Given the description of an element on the screen output the (x, y) to click on. 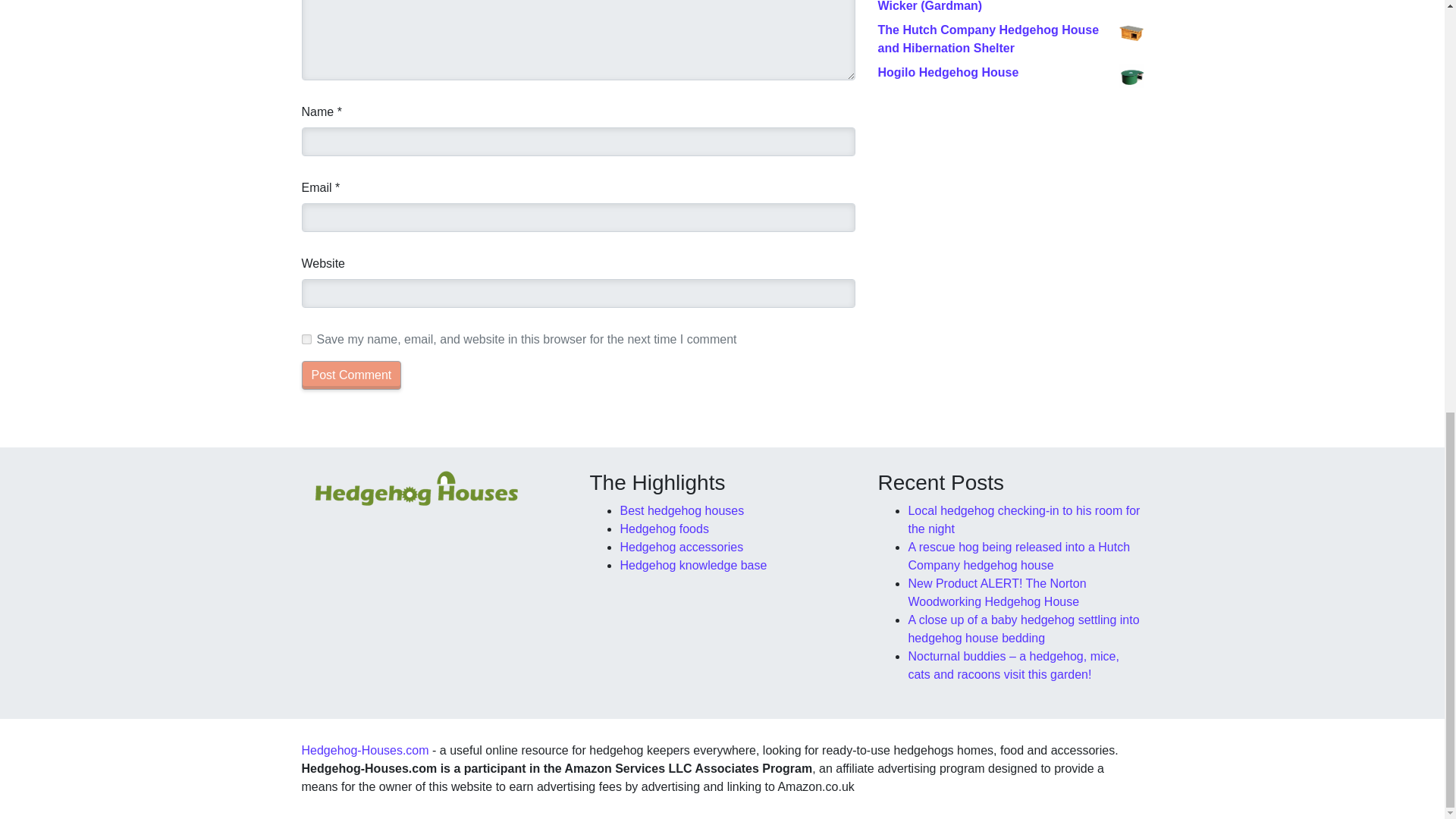
The Hutch Company Hedgehog House and Hibernation Shelter (1009, 39)
Hedgehog knowledge base (693, 564)
Best hedgehog houses (682, 510)
Post Comment (351, 375)
Hedgehog foods (663, 528)
Post Comment (351, 375)
yes (306, 338)
Hedgehog accessories (681, 546)
Hogilo Hedgehog House (1009, 72)
